Given the description of an element on the screen output the (x, y) to click on. 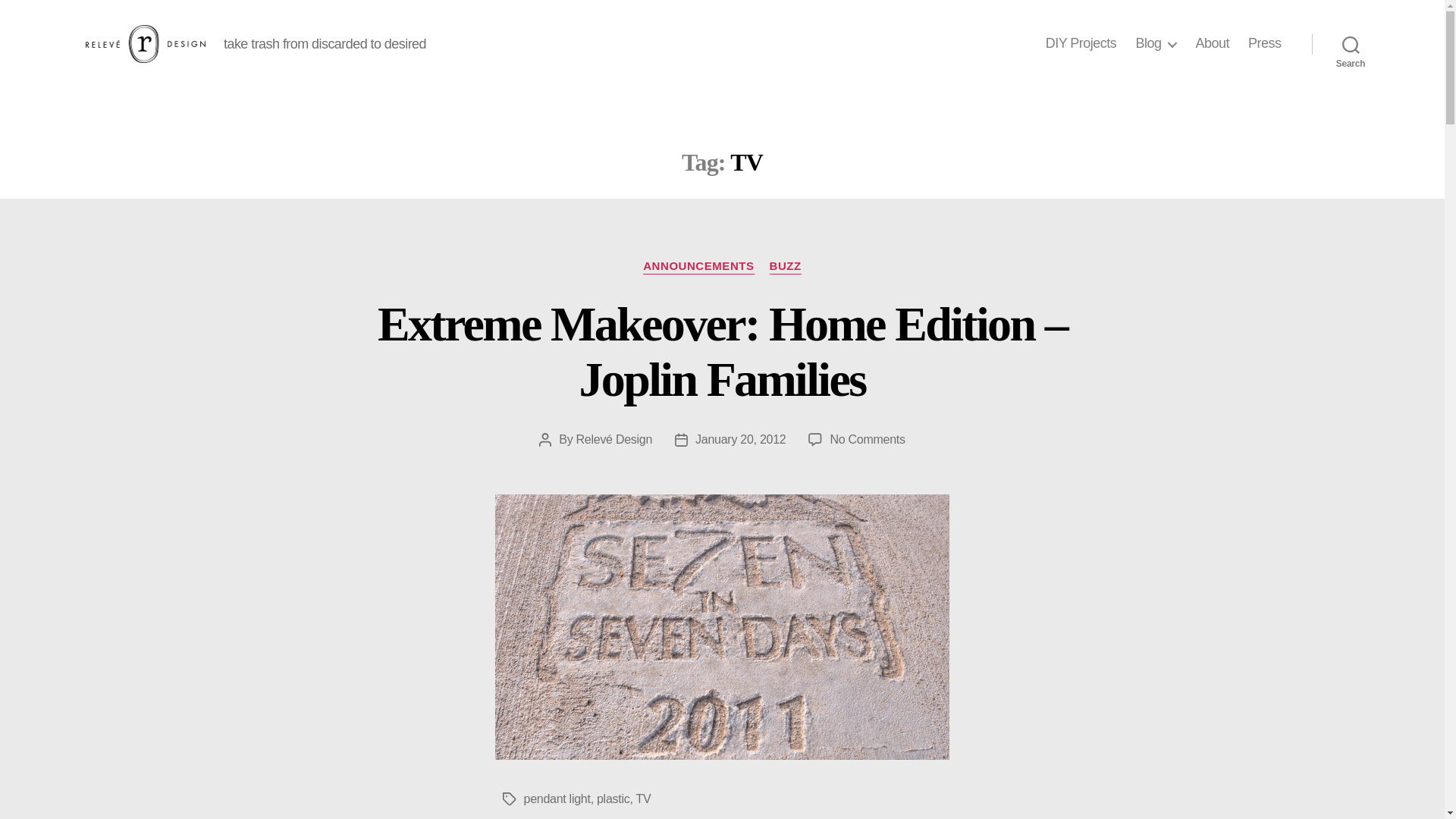
BUZZ (786, 266)
About (1211, 44)
TV (643, 798)
Search (1350, 43)
plastic (612, 798)
pendant light (555, 798)
Blog (1155, 44)
ANNOUNCEMENTS (698, 266)
January 20, 2012 (740, 439)
DIY Projects (1080, 44)
Press (1264, 44)
